Given the description of an element on the screen output the (x, y) to click on. 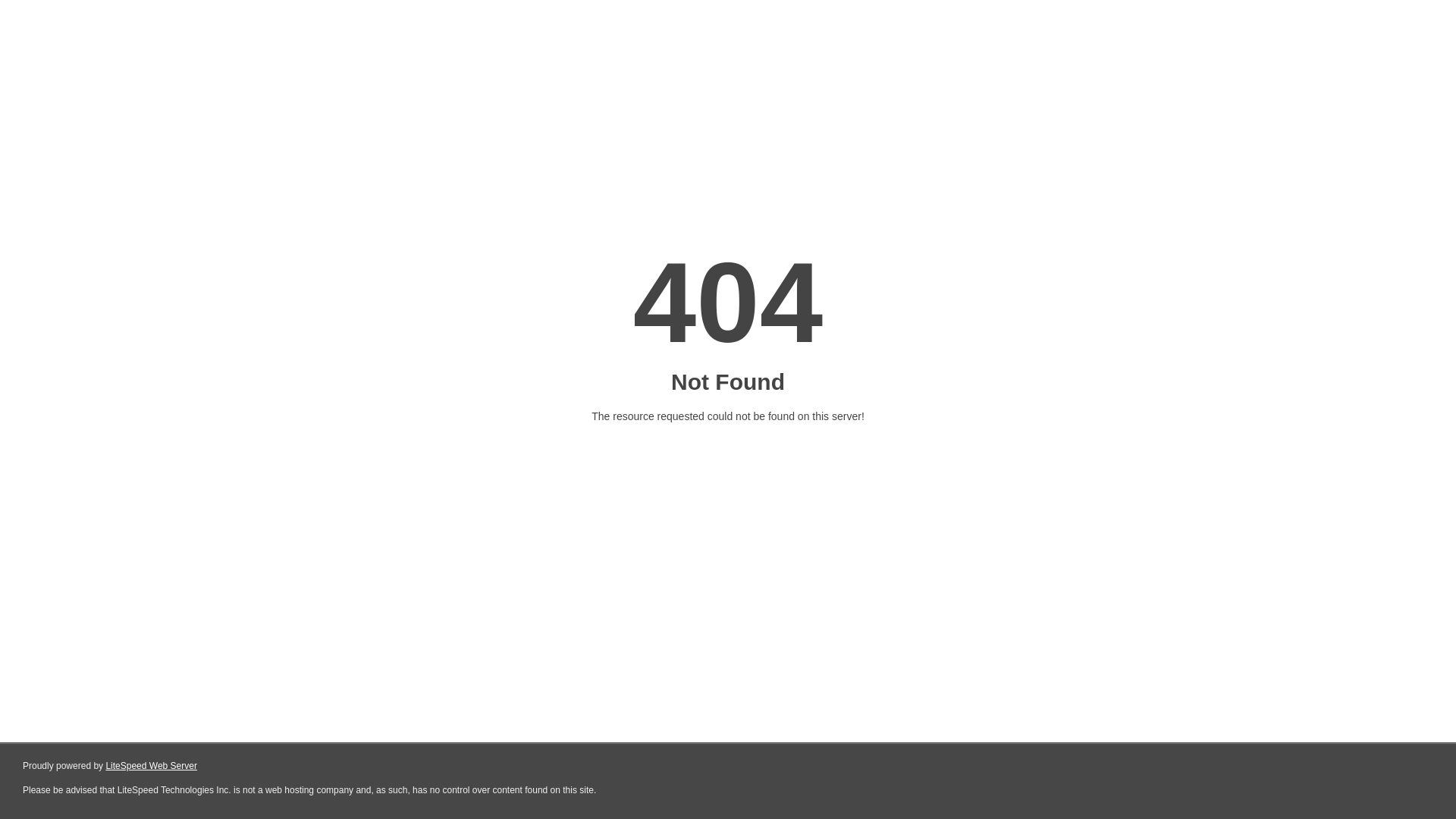
LiteSpeed Web Server Element type: text (151, 765)
